Given the description of an element on the screen output the (x, y) to click on. 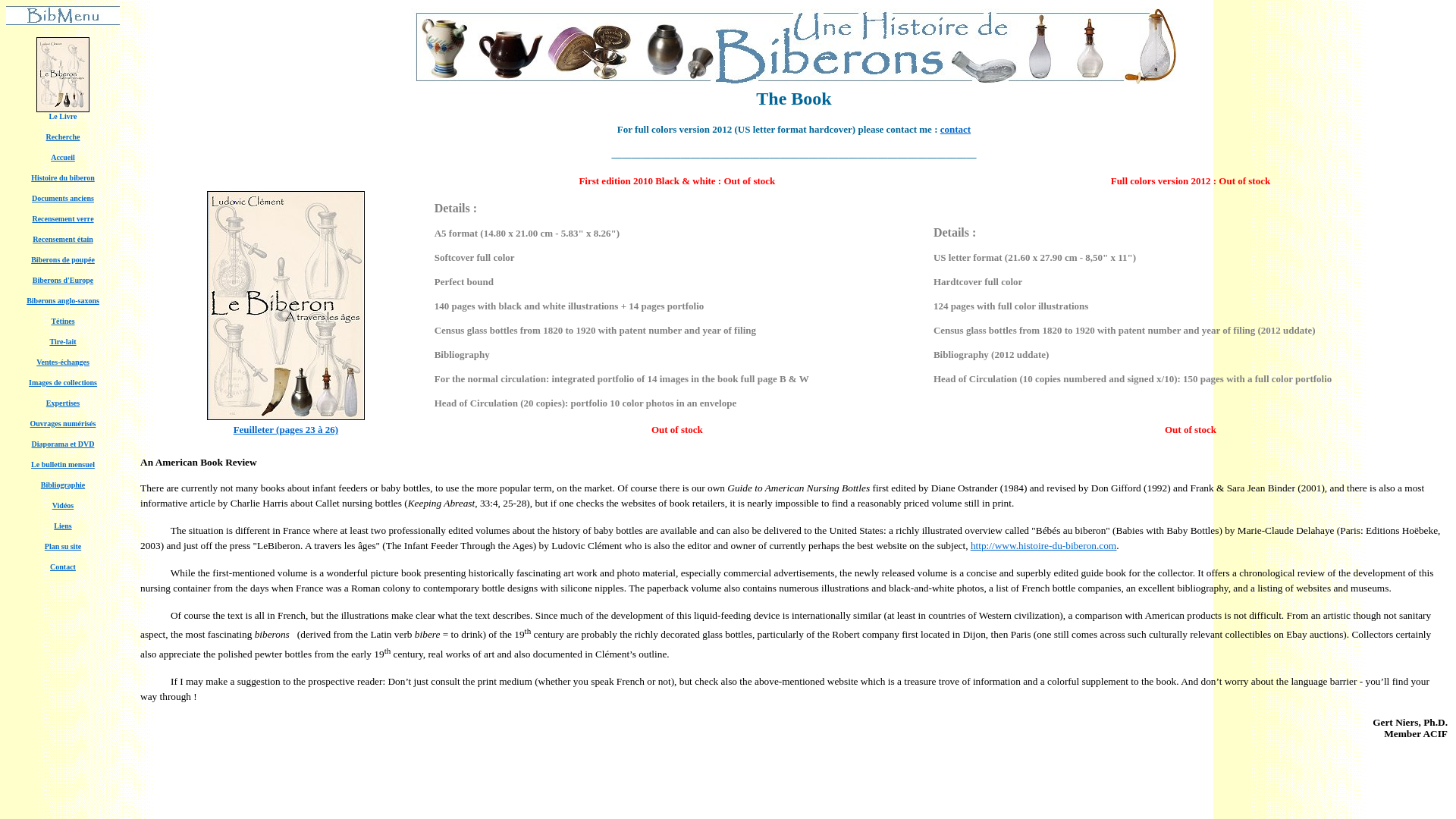
Liens (62, 523)
Bibliographie (62, 482)
Tire-lait (62, 339)
Recensement verre (62, 216)
Recherche (63, 136)
Histoire du biberon (62, 175)
Expertises (63, 400)
Accueil (62, 155)
contact (955, 129)
Le bulletin mensuel (62, 462)
Biberons anglo-saxons (62, 298)
Documents anciens (63, 196)
Images de collections (63, 380)
Contact (62, 566)
Biberons d'Europe (63, 278)
